Given the description of an element on the screen output the (x, y) to click on. 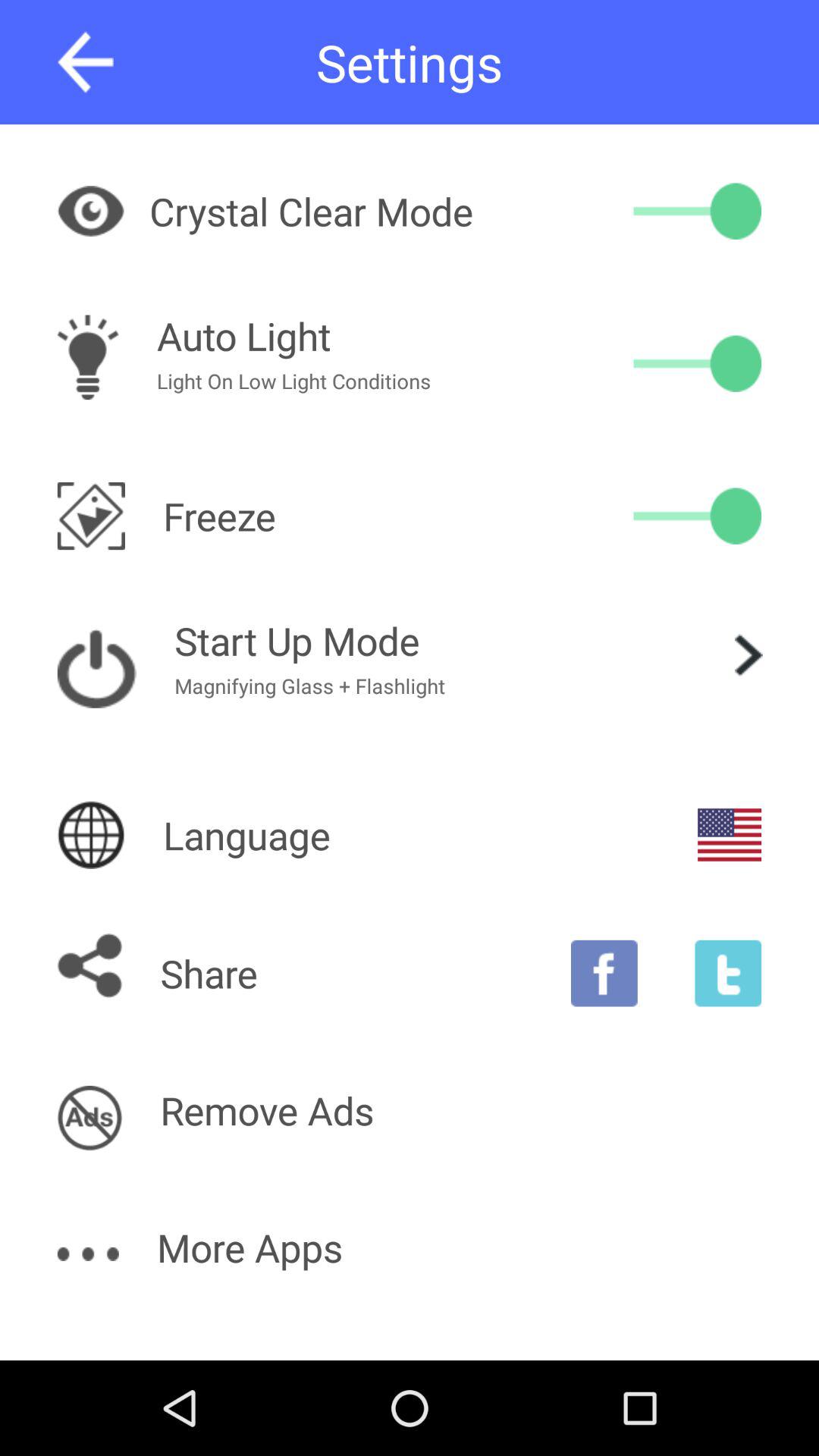
open item to the left of settings item (85, 62)
